Given the description of an element on the screen output the (x, y) to click on. 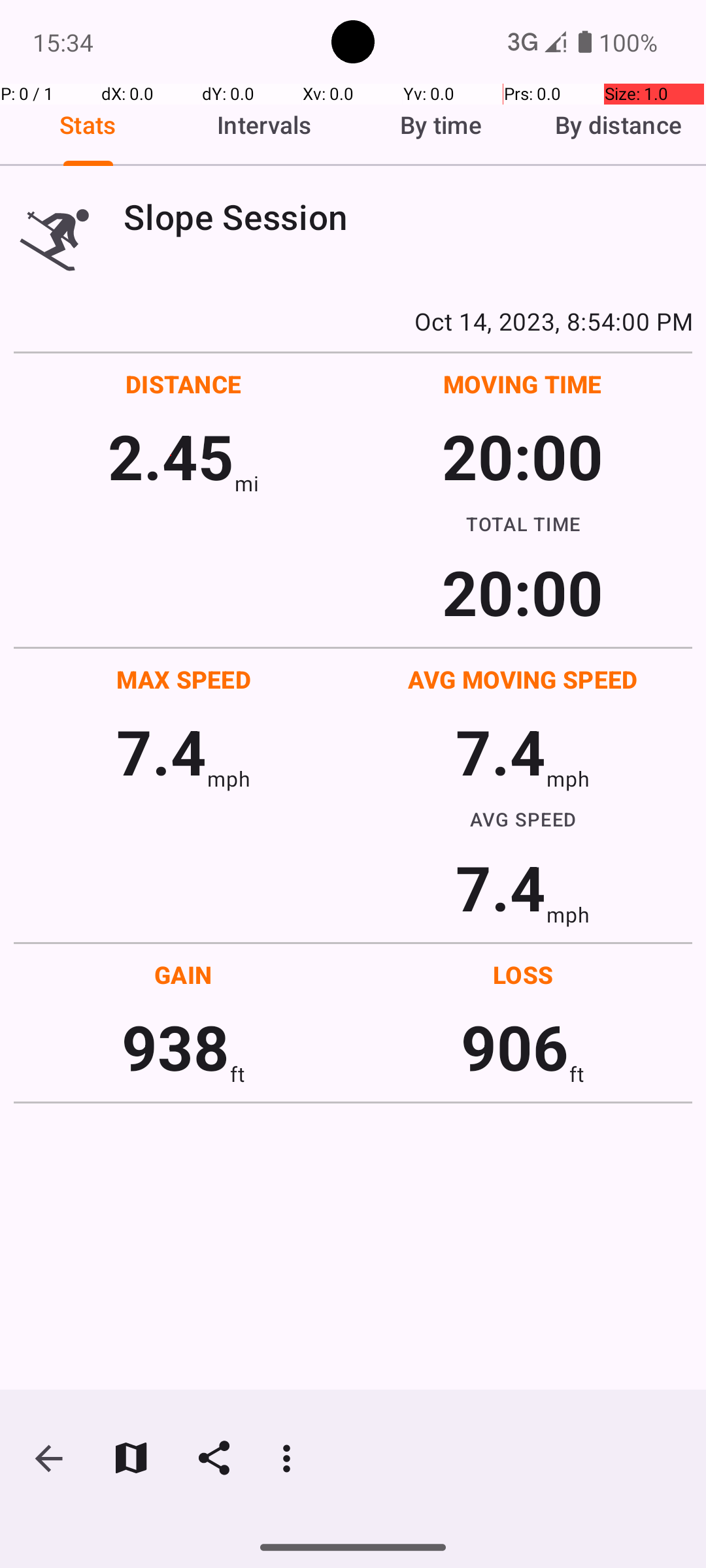
Stats Element type: android.widget.LinearLayout (88, 124)
Intervals Element type: android.widget.LinearLayout (264, 124)
By time Element type: android.widget.LinearLayout (441, 124)
By distance Element type: android.widget.LinearLayout (617, 124)
Show on map Element type: android.widget.Button (130, 1458)
Slope Session Element type: android.widget.TextView (407, 216)
Oct 14, 2023, 8:54:00 PM Element type: android.widget.TextView (352, 320)
DISTANCE Element type: android.widget.TextView (183, 383)
MOVING TIME Element type: android.widget.TextView (522, 383)
2.45 Element type: android.widget.TextView (170, 455)
mi Element type: android.widget.TextView (246, 483)
20:00 Element type: android.widget.TextView (522, 455)
TOTAL TIME Element type: android.widget.TextView (522, 523)
MAX SPEED Element type: android.widget.TextView (183, 678)
AVG MOVING SPEED Element type: android.widget.TextView (522, 678)
7.4 Element type: android.widget.TextView (161, 750)
mph Element type: android.widget.TextView (228, 778)
AVG SPEED Element type: android.widget.TextView (522, 818)
GAIN Element type: android.widget.TextView (183, 974)
LOSS Element type: android.widget.TextView (522, 974)
938 Element type: android.widget.TextView (175, 1045)
ft Element type: android.widget.TextView (237, 1073)
906 Element type: android.widget.TextView (514, 1045)
